Given the description of an element on the screen output the (x, y) to click on. 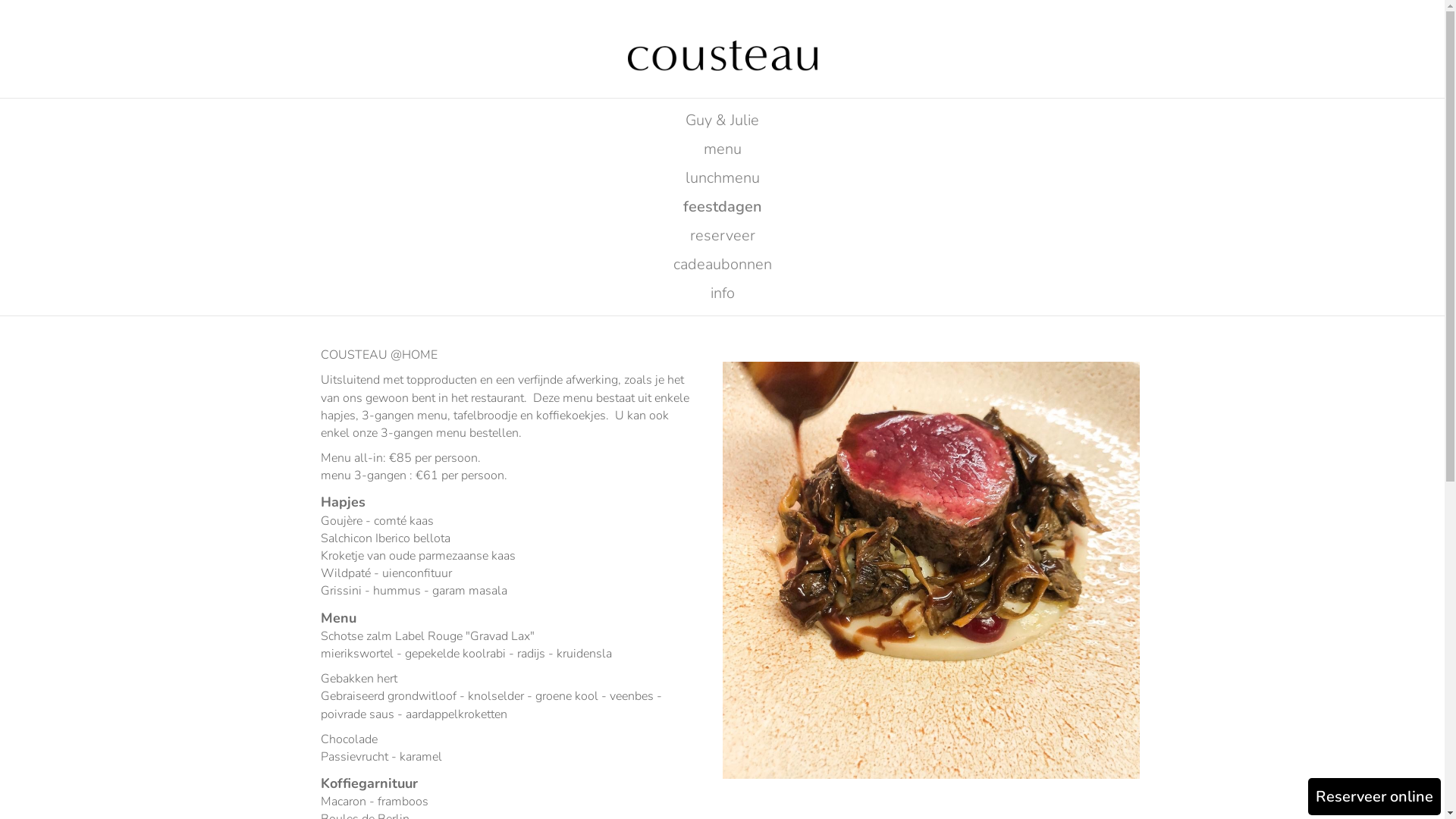
info Element type: text (721, 293)
Reserveer online Element type: text (1374, 796)
cadeaubonnen Element type: text (721, 264)
lunchmenu Element type: text (721, 177)
reserveer Element type: text (721, 235)
feestdagen Element type: text (721, 206)
Guy & Julie Element type: text (721, 120)
thumbnail_dab25886-f667-4b7a-92de-f455031c3926 Element type: hover (930, 569)
menu Element type: text (721, 148)
